Given the description of an element on the screen output the (x, y) to click on. 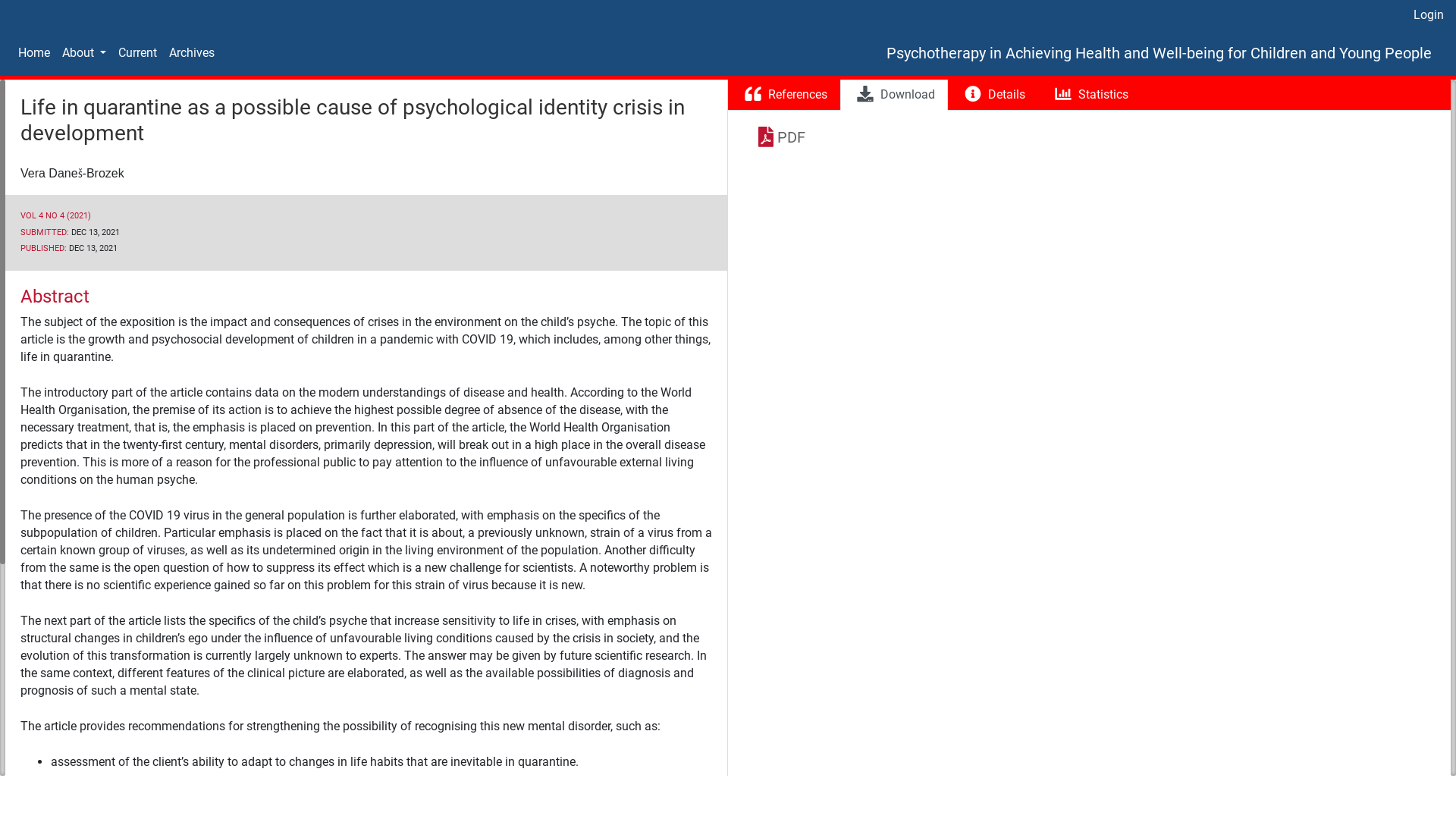
Current Element type: text (137, 52)
Home Element type: text (34, 52)
Archives Element type: text (191, 52)
Details Element type: text (992, 94)
PDF Element type: text (791, 137)
References Element type: text (784, 94)
About Element type: text (84, 52)
Download Element type: text (893, 94)
Statistics Element type: text (1089, 94)
